Given the description of an element on the screen output the (x, y) to click on. 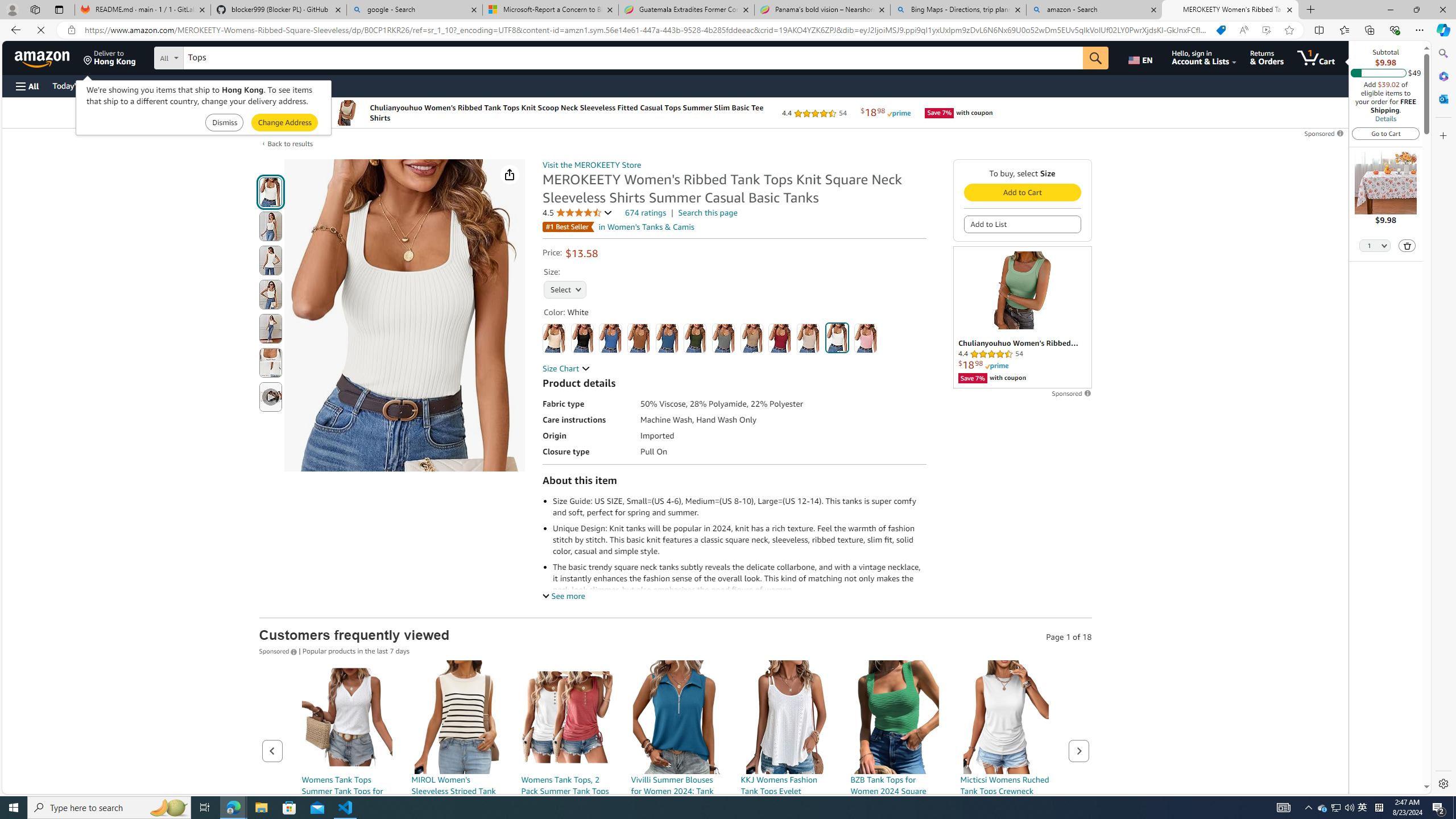
Details (1385, 118)
Amazon (43, 57)
Prime (996, 365)
Quantity Selector (1374, 246)
